Given the description of an element on the screen output the (x, y) to click on. 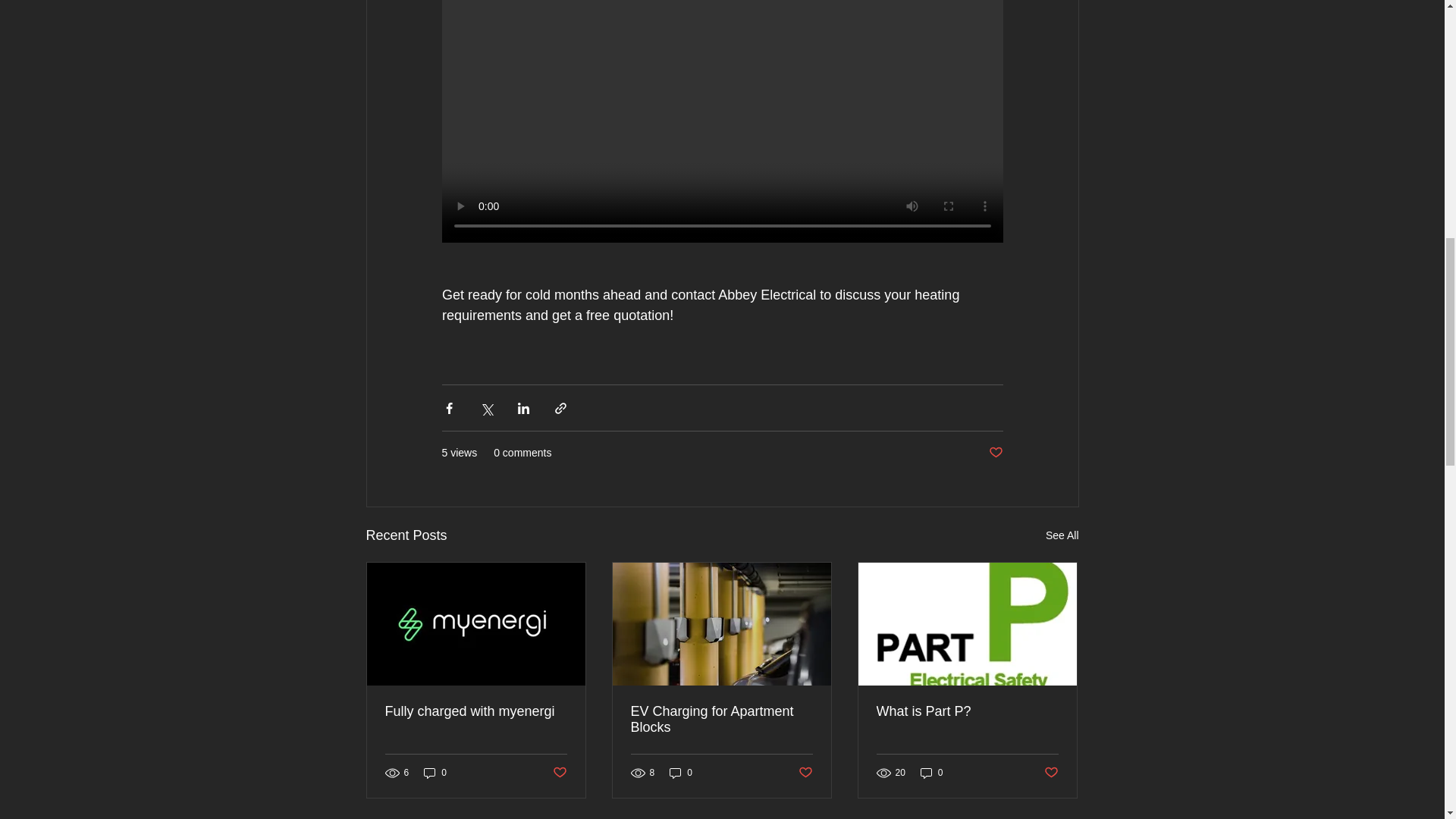
Fully charged with myenergi (476, 711)
0 (435, 772)
See All (1061, 535)
Post not marked as liked (804, 772)
What is Part P? (967, 711)
EV Charging for Apartment Blocks (721, 719)
Post not marked as liked (558, 772)
0 (681, 772)
Post not marked as liked (995, 453)
0 (931, 772)
Post not marked as liked (1050, 772)
